Given the description of an element on the screen output the (x, y) to click on. 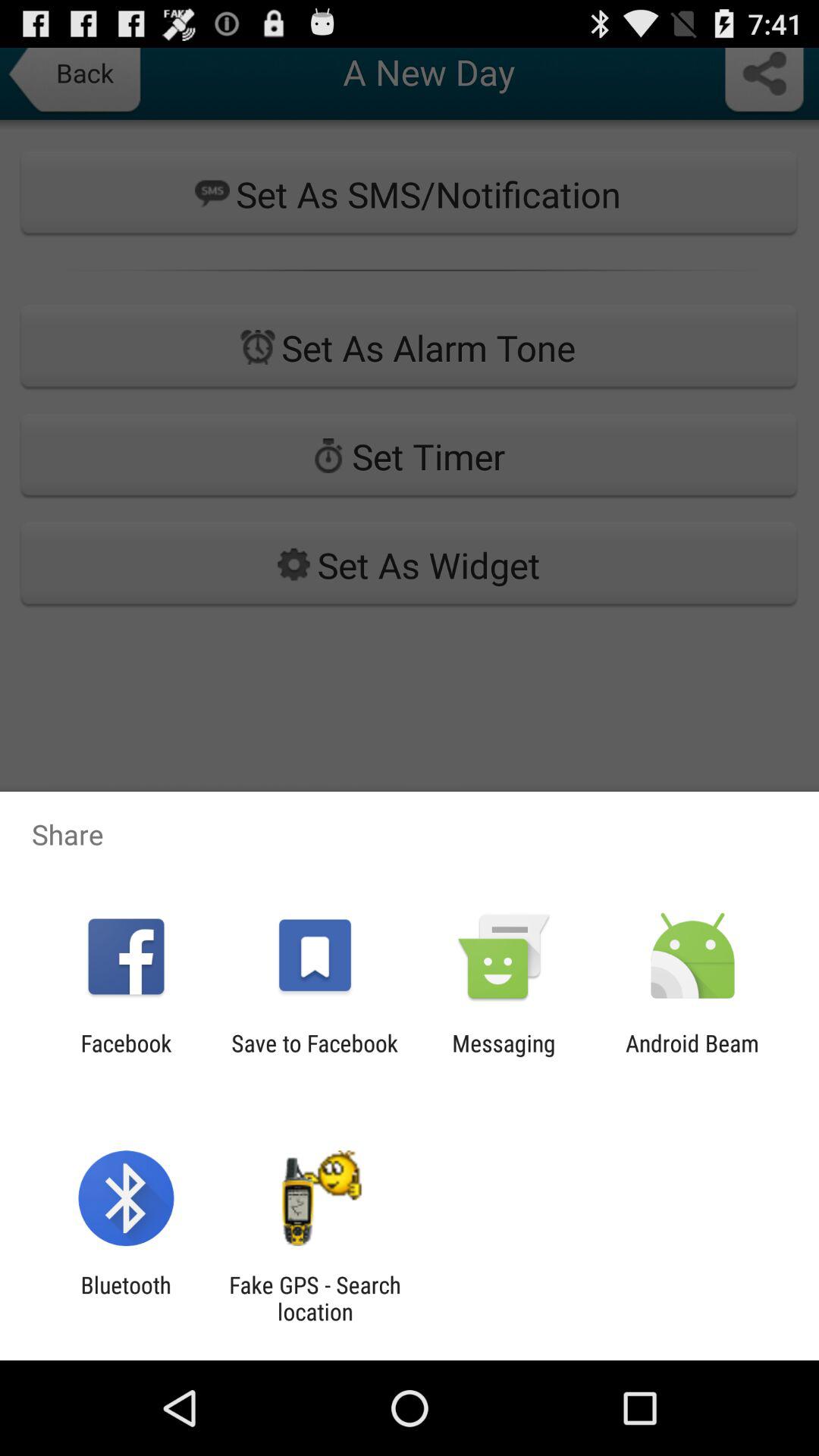
press app next to save to facebook (503, 1056)
